Given the description of an element on the screen output the (x, y) to click on. 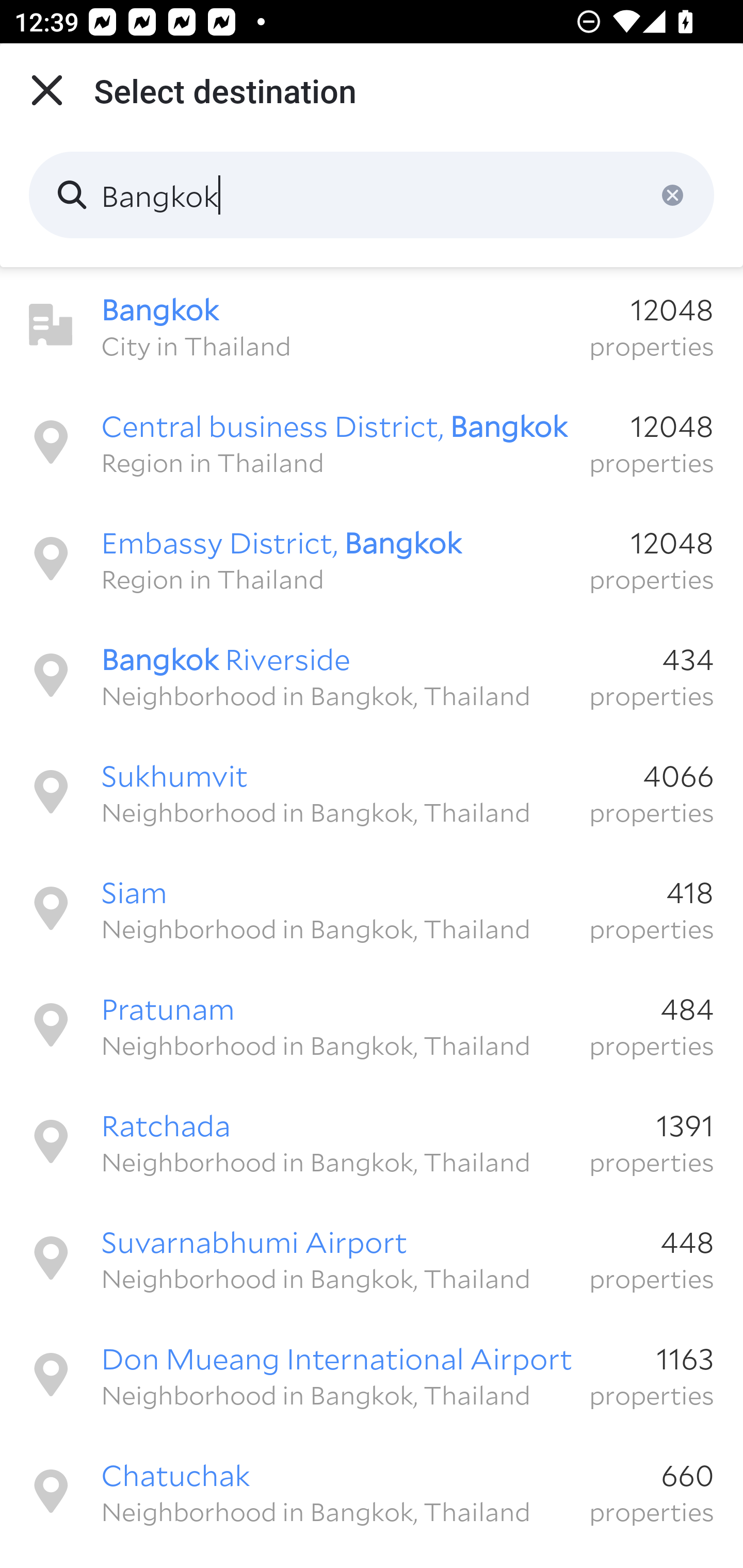
Bangkok (371, 195)
Bangkok 12048 City in Thailand properties (371, 325)
